Given the description of an element on the screen output the (x, y) to click on. 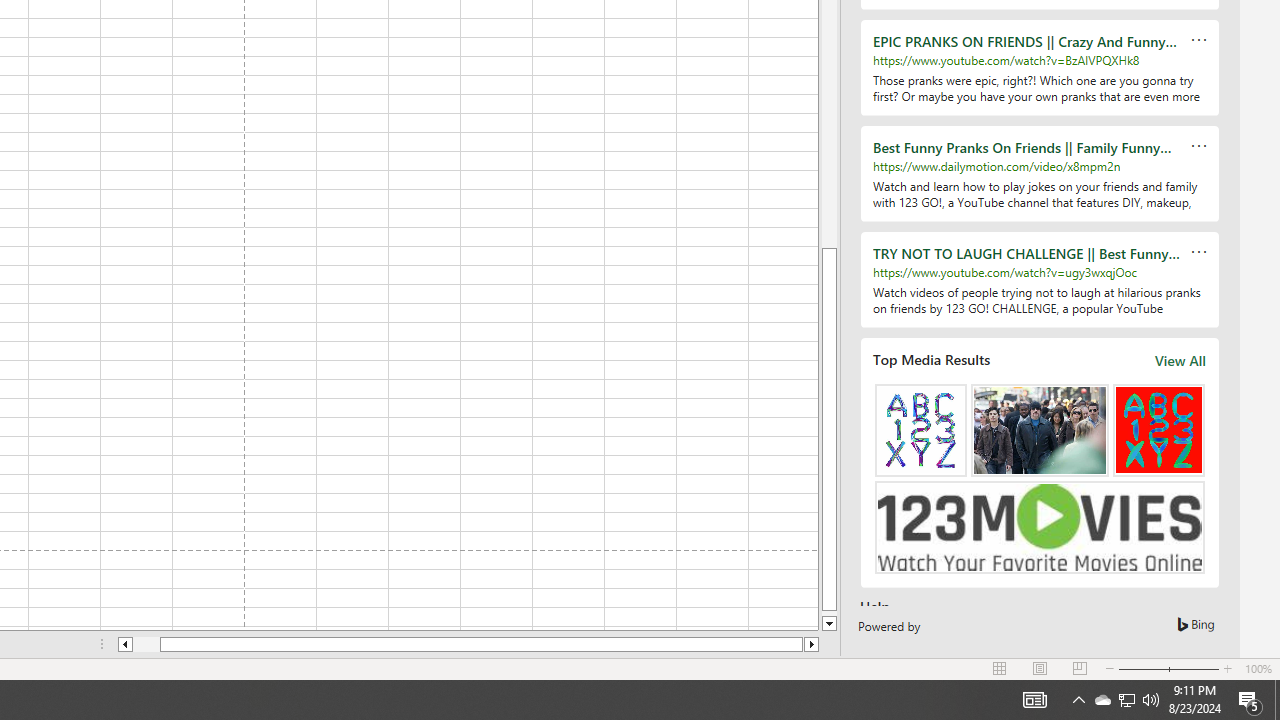
Page left (146, 644)
Page down (829, 613)
